Given the description of an element on the screen output the (x, y) to click on. 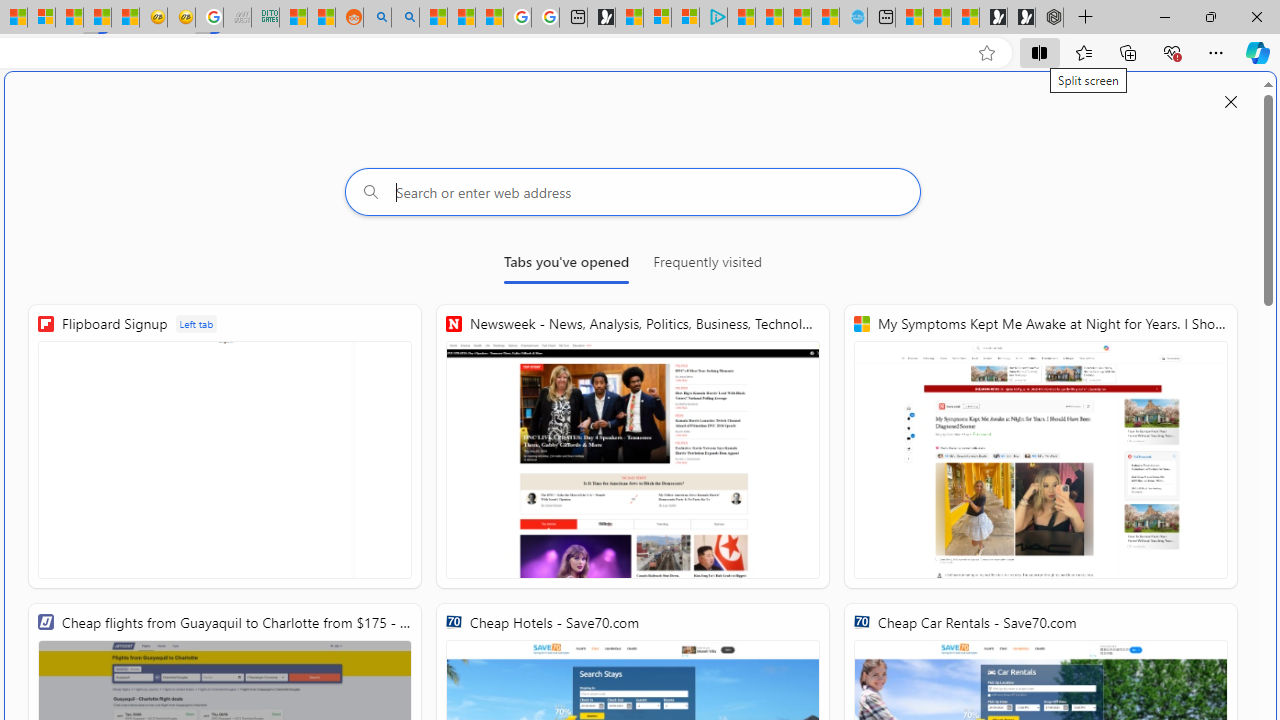
Tabs you've opened (566, 265)
Microsoft Start Gaming (601, 17)
Play Free Online Games | Games from Microsoft Start (1021, 17)
